Given the description of an element on the screen output the (x, y) to click on. 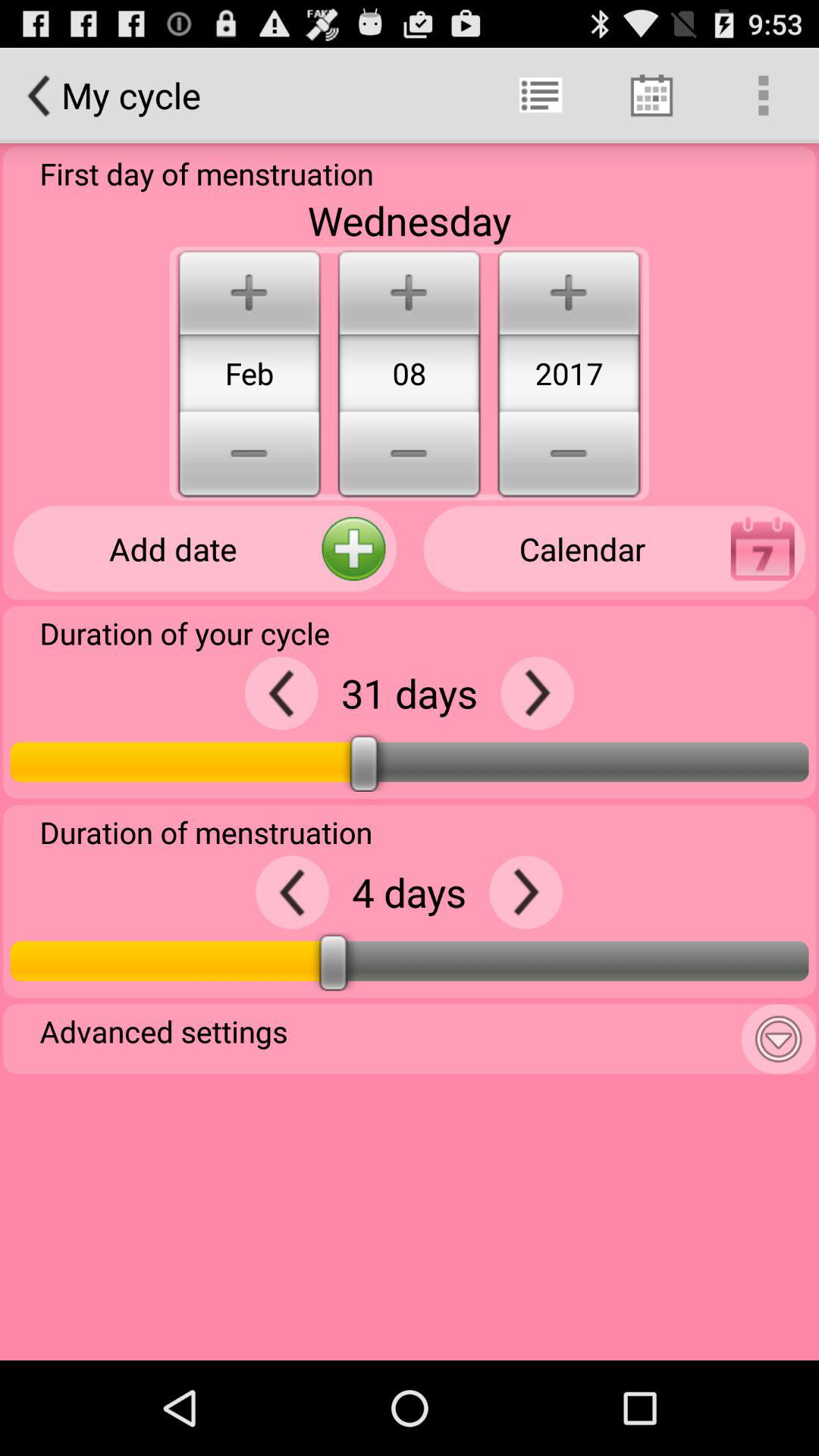
decrease duration of menstruation (292, 892)
